Given the description of an element on the screen output the (x, y) to click on. 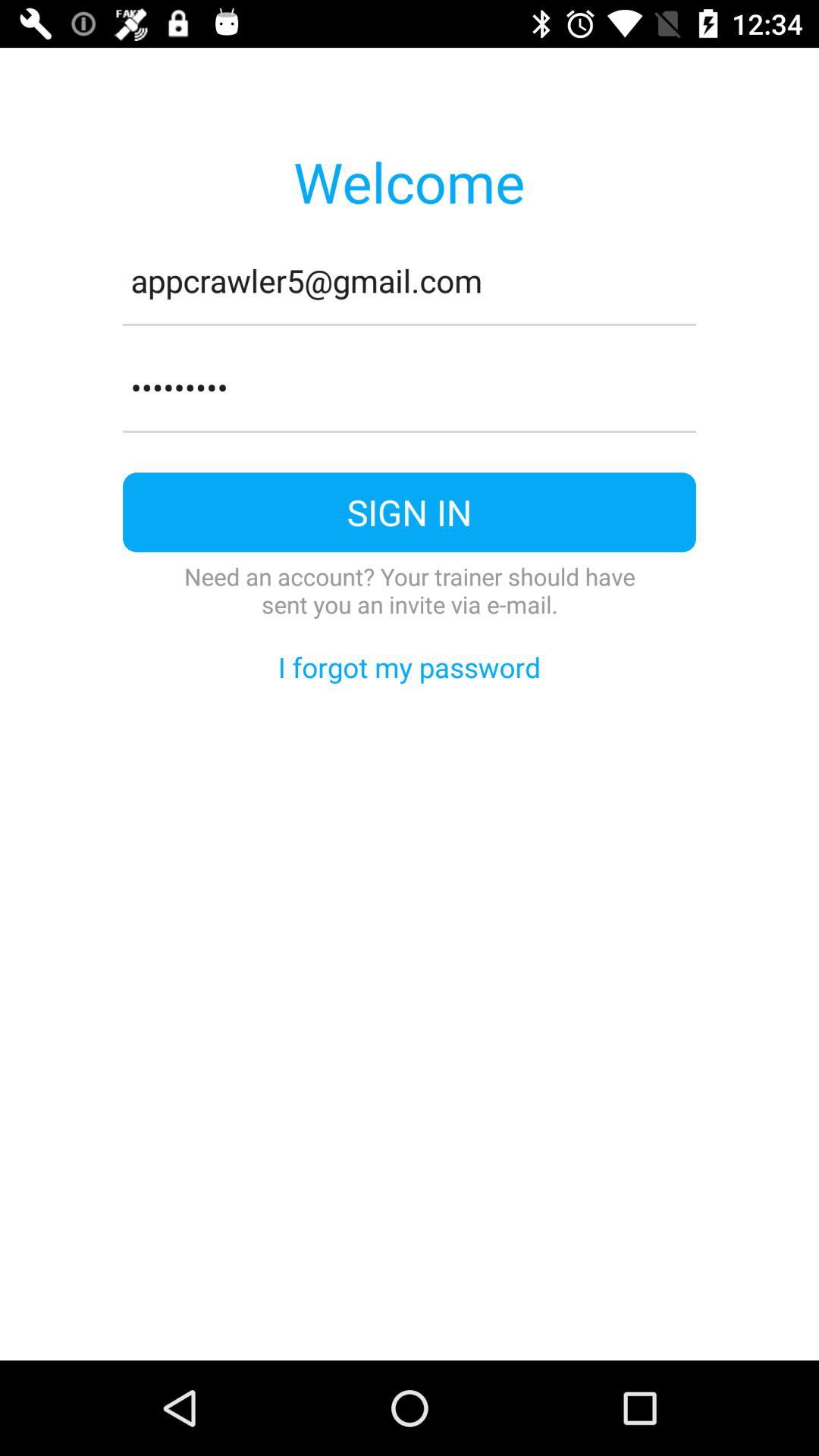
press the icon above appcrawler5@gmail.com (408, 181)
